Given the description of an element on the screen output the (x, y) to click on. 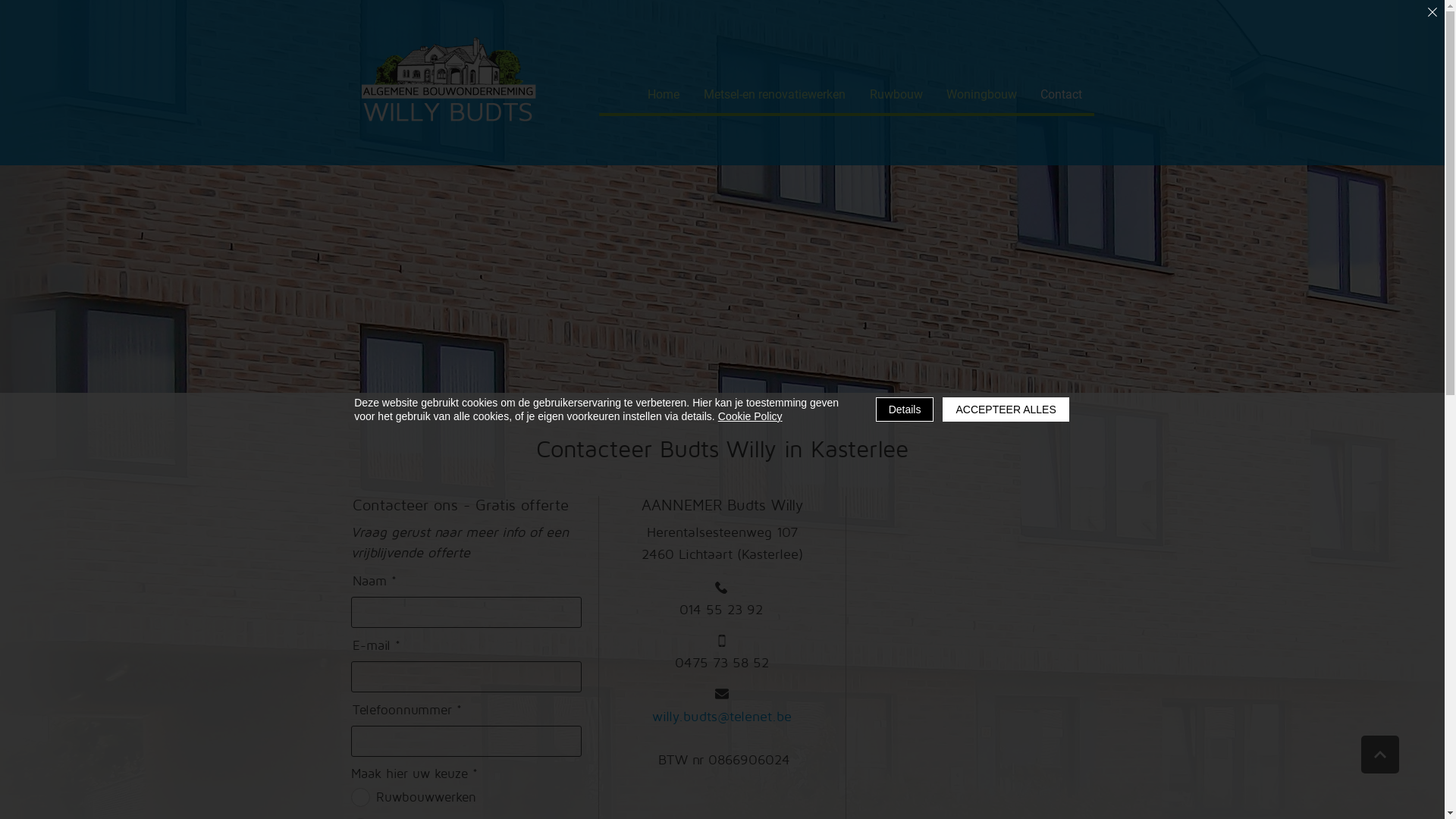
Willy-Budts-Logo Element type: hover (445, 82)
0475 73 58 52 Element type: text (721, 652)
Metsel-en renovatiewerken Element type: text (774, 93)
Ruwbouw Element type: text (895, 93)
Woningbouw Element type: text (981, 93)
Contact Element type: text (1060, 93)
Home Element type: text (663, 93)
Cookie Policy Element type: text (750, 416)
willy.budts@telenet.be Element type: text (722, 705)
014 55 23 92 Element type: text (721, 599)
ACCEPTEER ALLES Element type: text (1005, 409)
Details Element type: text (904, 409)
